Given the description of an element on the screen output the (x, y) to click on. 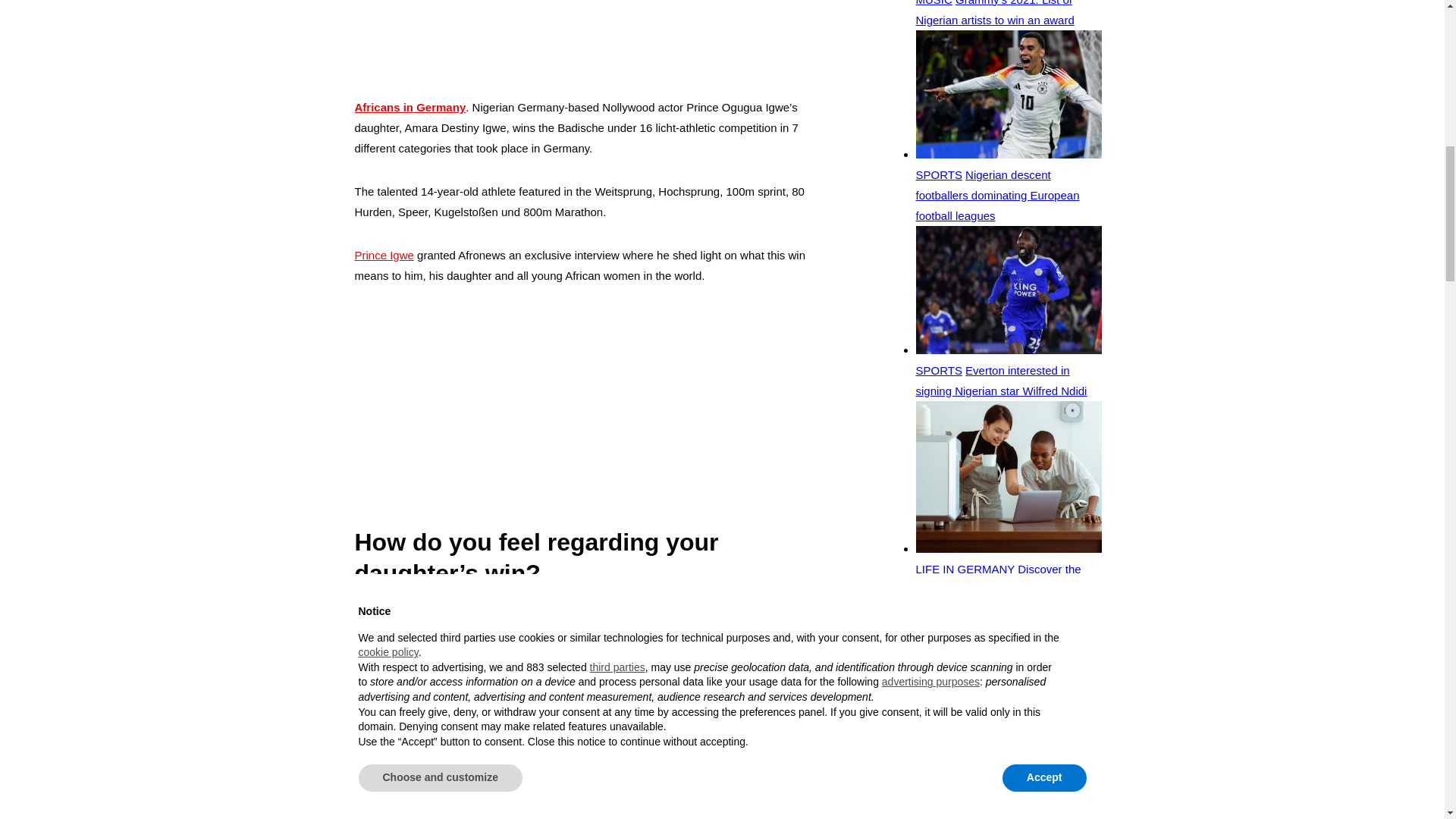
Africans in Germany (410, 106)
Prince Igwe (384, 254)
